Given the description of an element on the screen output the (x, y) to click on. 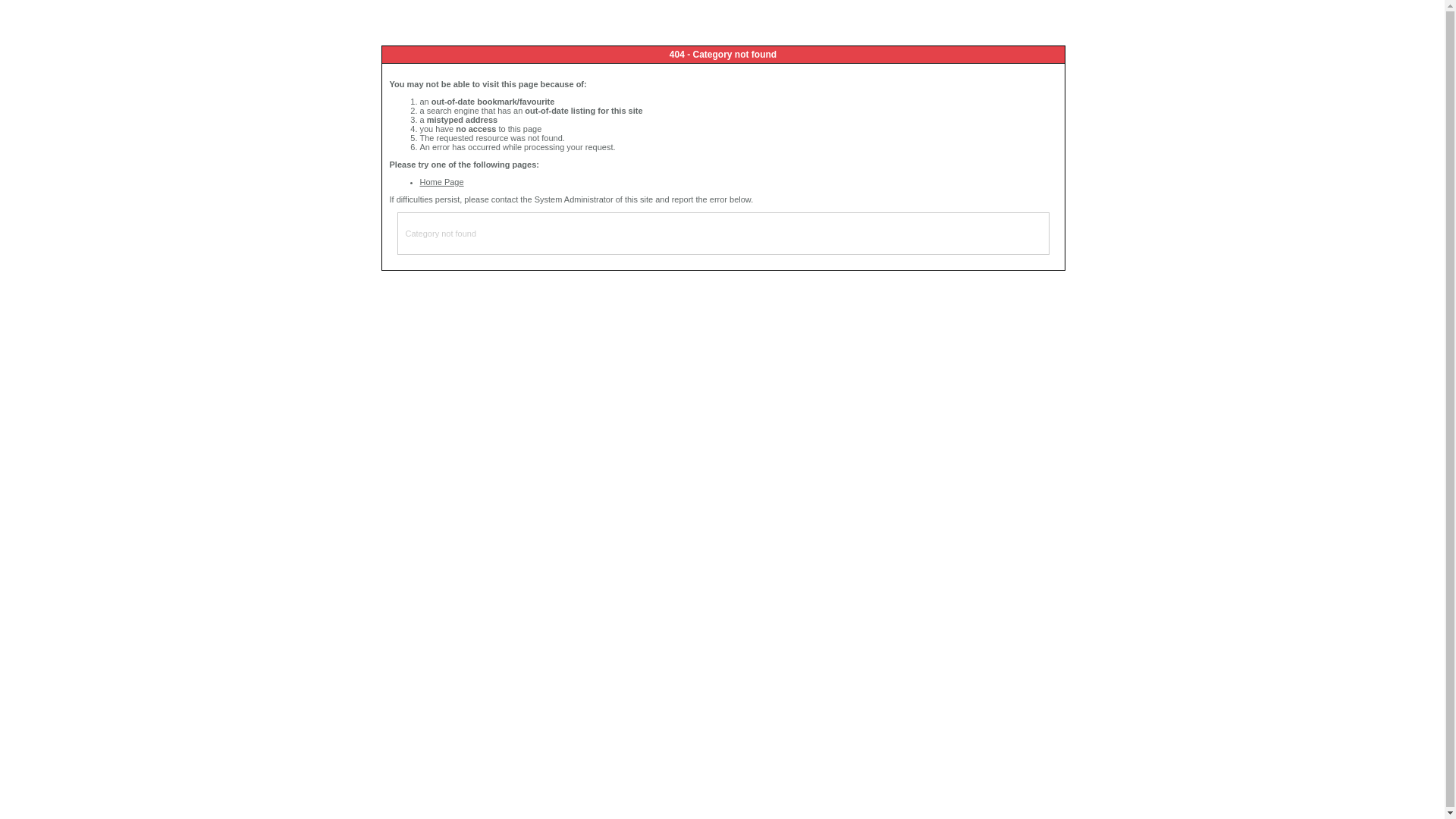
Home Page Element type: text (442, 181)
